Given the description of an element on the screen output the (x, y) to click on. 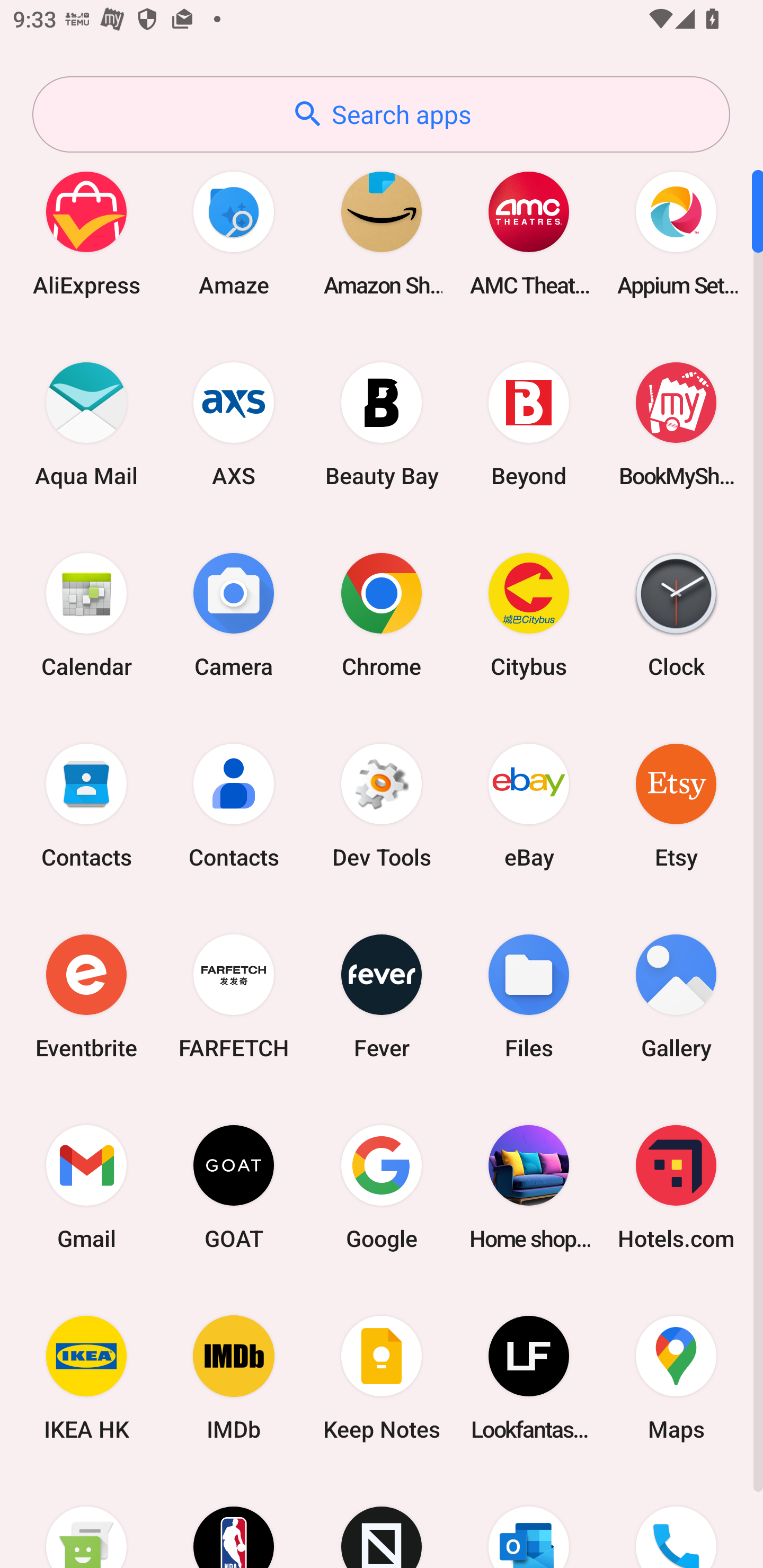
  Search apps (381, 114)
AliExpress (86, 233)
Amaze (233, 233)
Amazon Shopping (381, 233)
AMC Theatres (528, 233)
Appium Settings (676, 233)
Aqua Mail (86, 424)
AXS (233, 424)
Beauty Bay (381, 424)
Beyond (528, 424)
BookMyShow (676, 424)
Calendar (86, 614)
Camera (233, 614)
Chrome (381, 614)
Citybus (528, 614)
Clock (676, 614)
Contacts (86, 805)
Contacts (233, 805)
Dev Tools (381, 805)
eBay (528, 805)
Etsy (676, 805)
Eventbrite (86, 996)
FARFETCH (233, 996)
Fever (381, 996)
Files (528, 996)
Gallery (676, 996)
Gmail (86, 1186)
GOAT (233, 1186)
Google (381, 1186)
Home shopping (528, 1186)
Hotels.com (676, 1186)
IKEA HK (86, 1377)
IMDb (233, 1377)
Keep Notes (381, 1377)
Lookfantastic (528, 1377)
Maps (676, 1377)
